Given the description of an element on the screen output the (x, y) to click on. 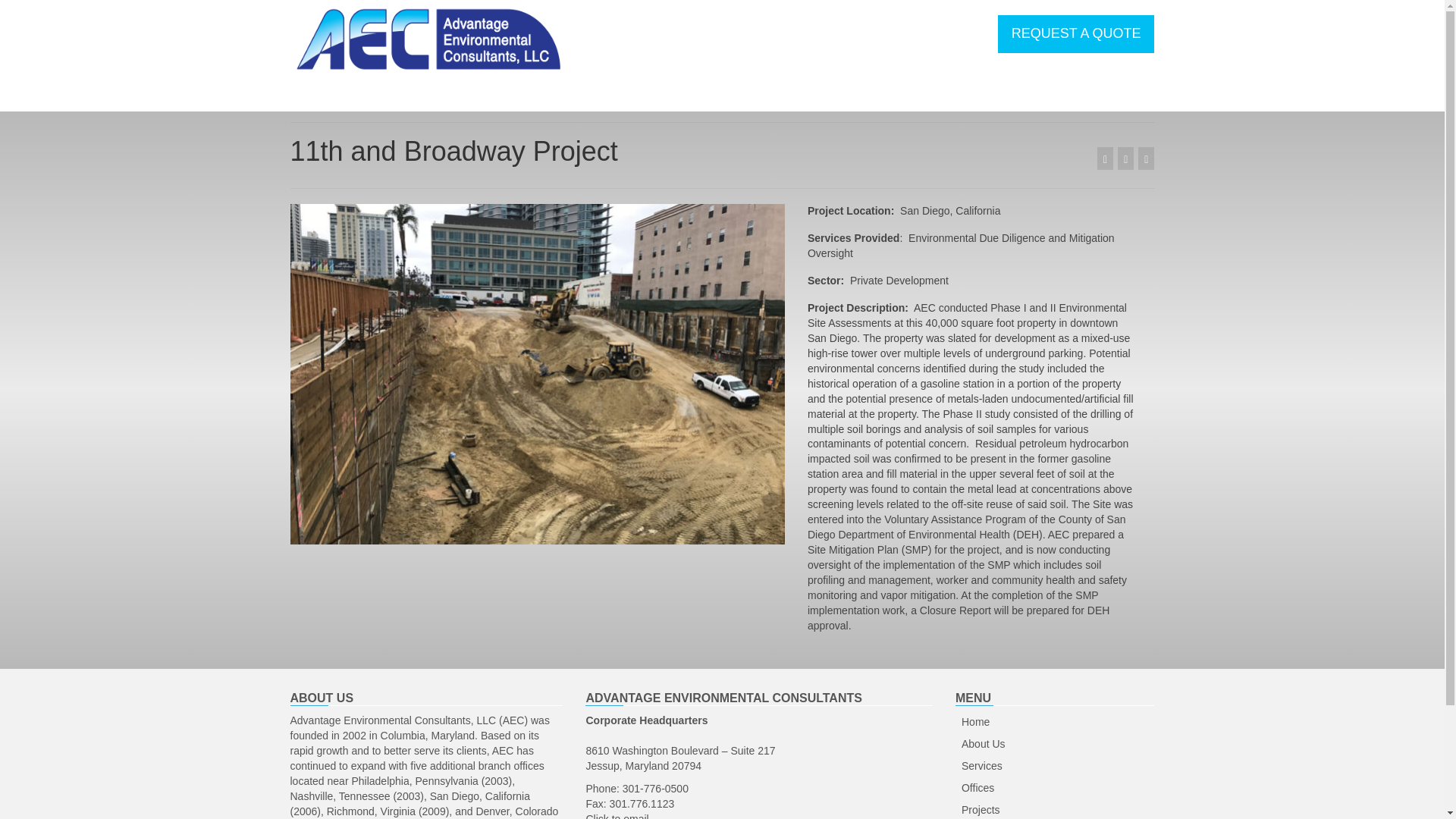
CLIENT PORTAL (889, 95)
SERVICES (595, 95)
Advantage Environmental Consultants (428, 39)
Home (1054, 722)
CONTACT US (1010, 95)
HOME (414, 95)
Offices (1054, 788)
OFFICES (686, 95)
ABOUT US (499, 95)
Click to email (616, 816)
About Us (1054, 744)
Services (1054, 766)
301-776-0500 (655, 788)
PROJECTS (776, 95)
REQUEST A QUOTE (1075, 34)
